Given the description of an element on the screen output the (x, y) to click on. 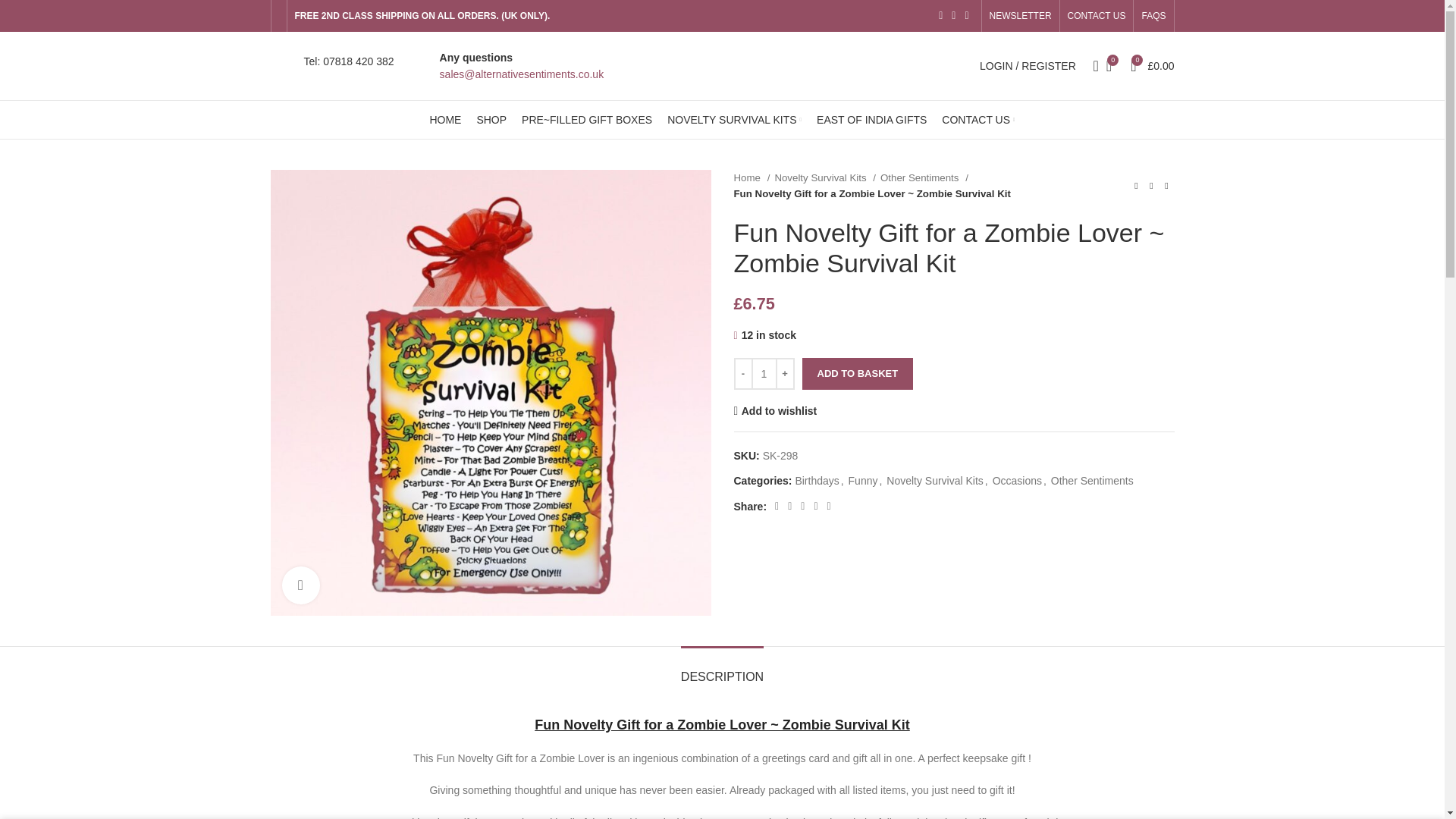
EAST OF INDIA GIFTS (871, 119)
Novelty Survival Kits (825, 177)
HOME (445, 119)
Shopping cart (1151, 65)
Other Sentiments (924, 177)
NEWSLETTER (1020, 15)
SHOP (491, 119)
CONTACT US (978, 119)
CONTACT US (1096, 15)
handmade-technology (282, 65)
My account (1027, 65)
NOVELTY SURVIVAL KITS (734, 119)
Home (751, 177)
